Given the description of an element on the screen output the (x, y) to click on. 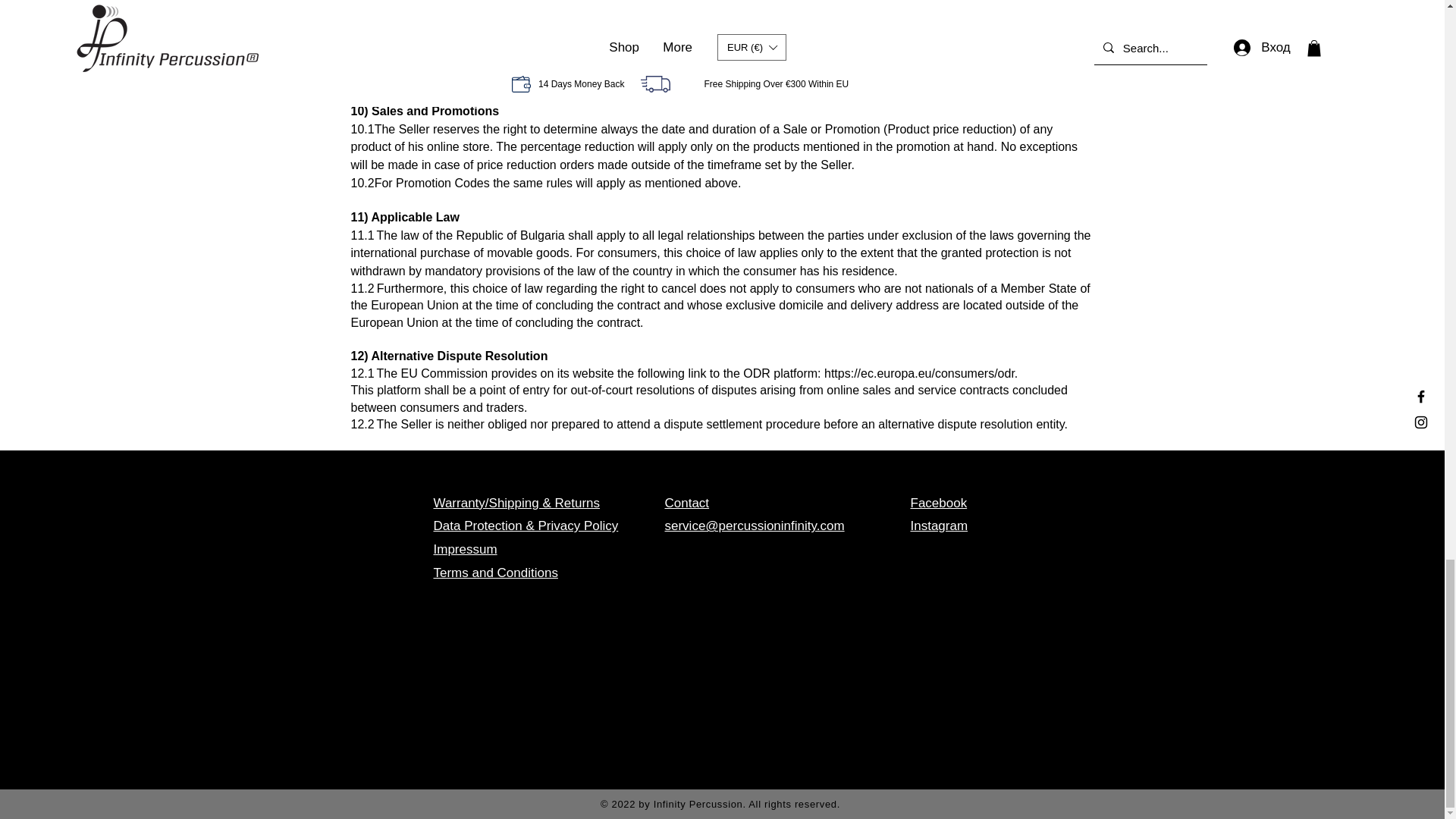
Facebook (938, 503)
Terms and Conditions (495, 572)
Instagram (939, 525)
Contact (686, 503)
Impressum (465, 549)
